Given the description of an element on the screen output the (x, y) to click on. 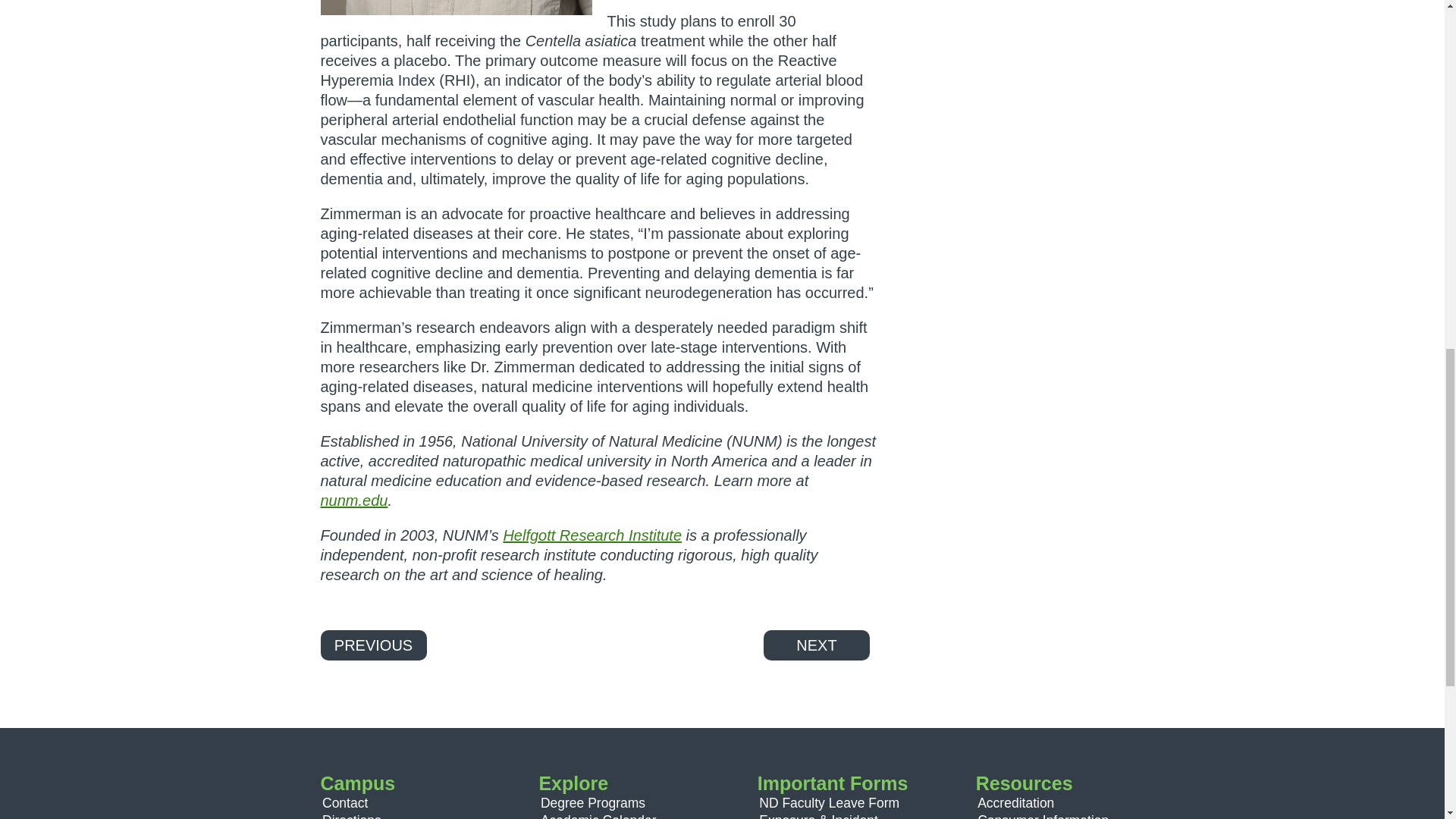
Academic Calendar (598, 816)
NEXT (815, 644)
ND Faculty Leave Form (828, 802)
Directions (351, 816)
Helfgott Research Institute (591, 535)
Degree Programs (592, 802)
PREVIOUS (373, 644)
nunm.edu (353, 500)
Contact (344, 802)
